Given the description of an element on the screen output the (x, y) to click on. 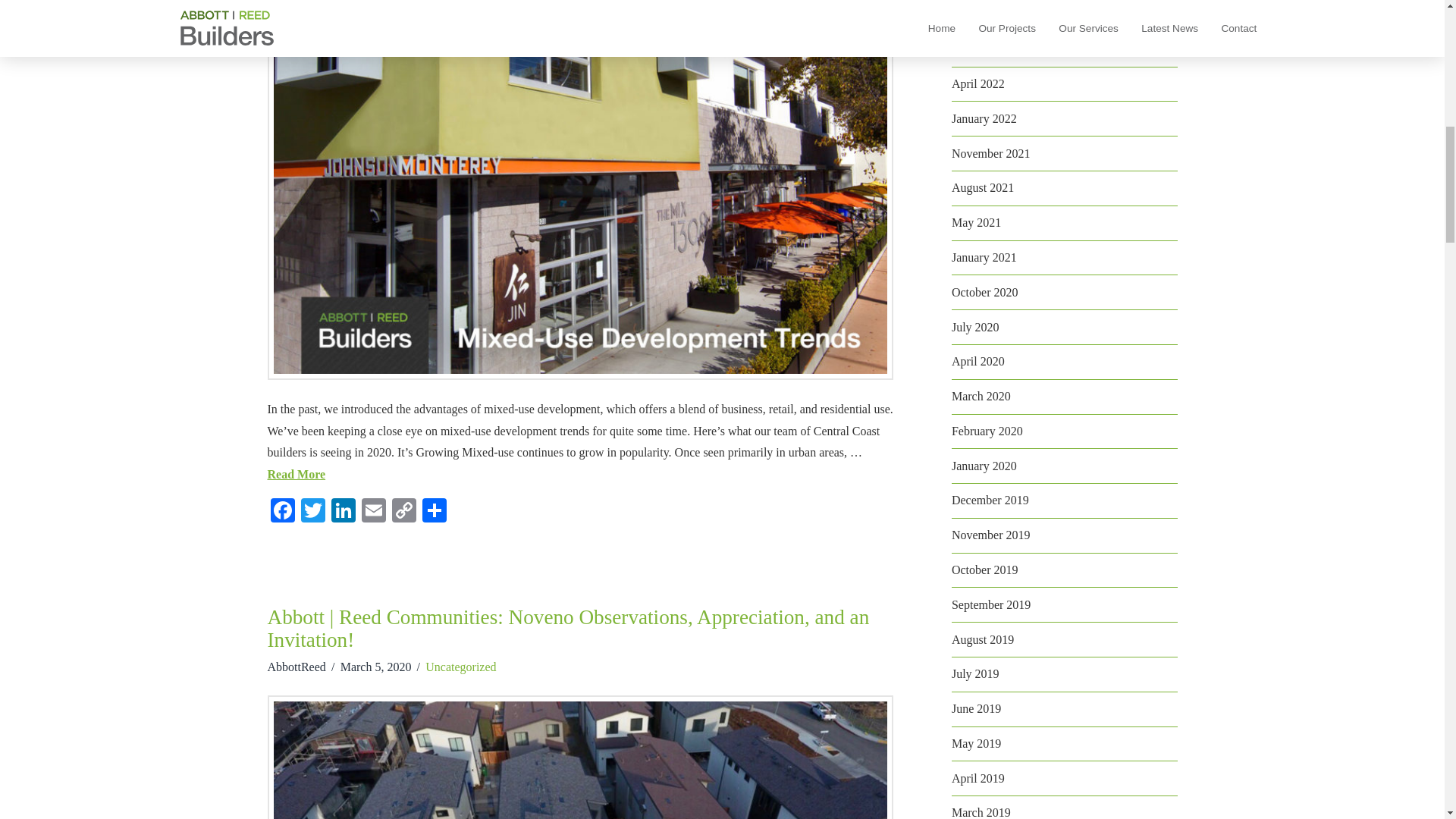
LinkedIn (342, 511)
LinkedIn (342, 511)
Copy Link (403, 511)
Read More (295, 473)
Email (373, 511)
Copy Link (403, 511)
Share (433, 511)
Facebook (281, 511)
Twitter (312, 511)
Twitter (312, 511)
Uncategorized (460, 666)
Email (373, 511)
Facebook (281, 511)
